Given the description of an element on the screen output the (x, y) to click on. 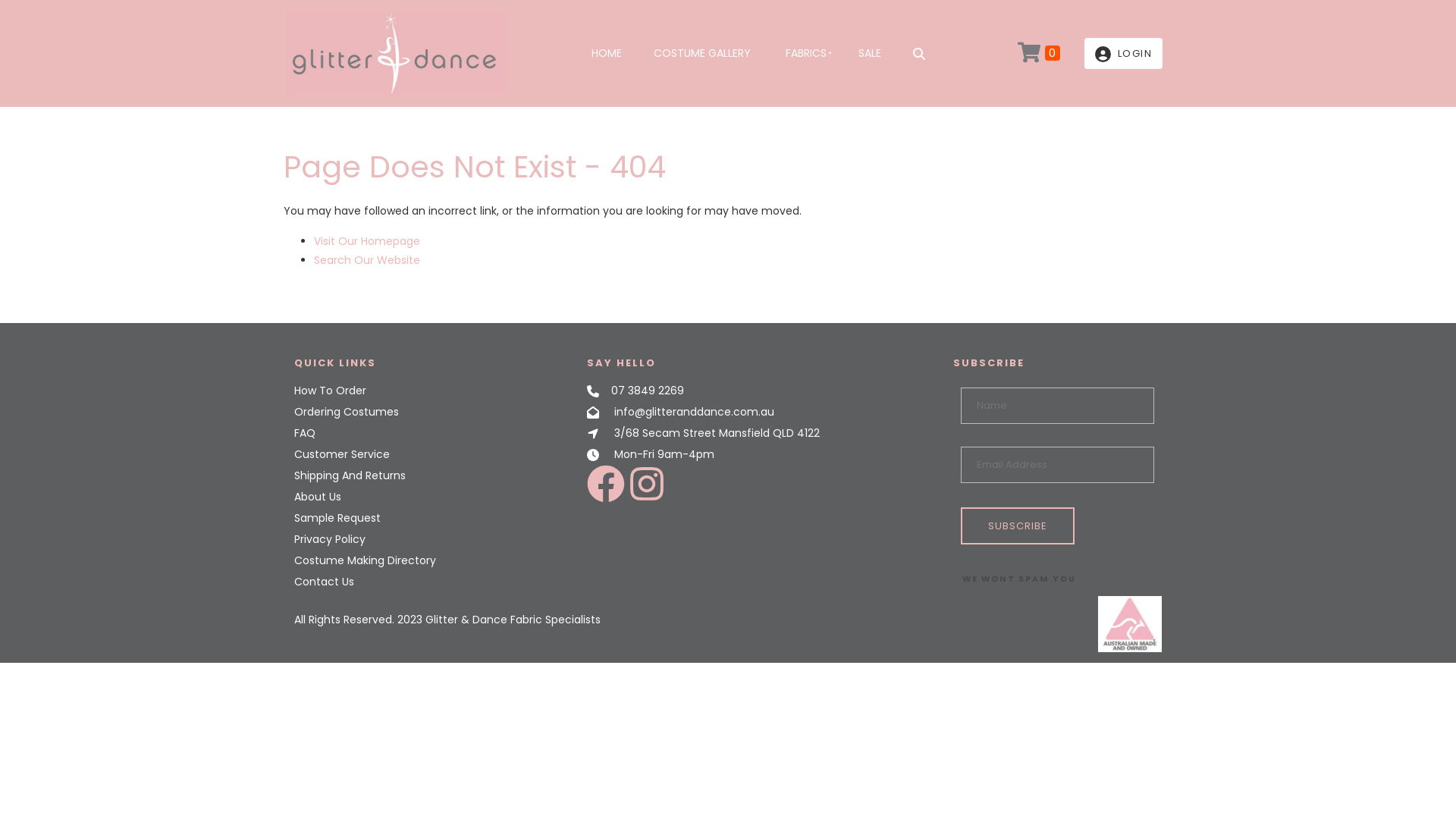
About Us Element type: text (317, 496)
Costume Making Directory Element type: text (365, 559)
How To Order Element type: text (330, 390)
Shipping And Returns Element type: text (349, 475)
SUBSCRIBE Element type: text (1016, 525)
Contact Us Element type: text (324, 581)
info@glitteranddance.com.au Element type: text (694, 411)
Sample Request Element type: text (337, 517)
Privacy Policy Element type: text (329, 538)
  Element type: text (1122, 53)
Customer Service Element type: text (341, 453)
Visit Our Homepage Element type: text (366, 240)
SALE Element type: text (869, 53)
COSTUME GALLERY Element type: text (701, 53)
07 3849 2269 Element type: text (647, 390)
Search Our Website Element type: text (366, 259)
FAQ Element type: text (304, 432)
HOME Element type: text (606, 53)
Your cart has 0 item(s) Element type: hover (1038, 53)
FABRICS Element type: text (804, 53)
Ordering Costumes Element type: text (346, 411)
